Given the description of an element on the screen output the (x, y) to click on. 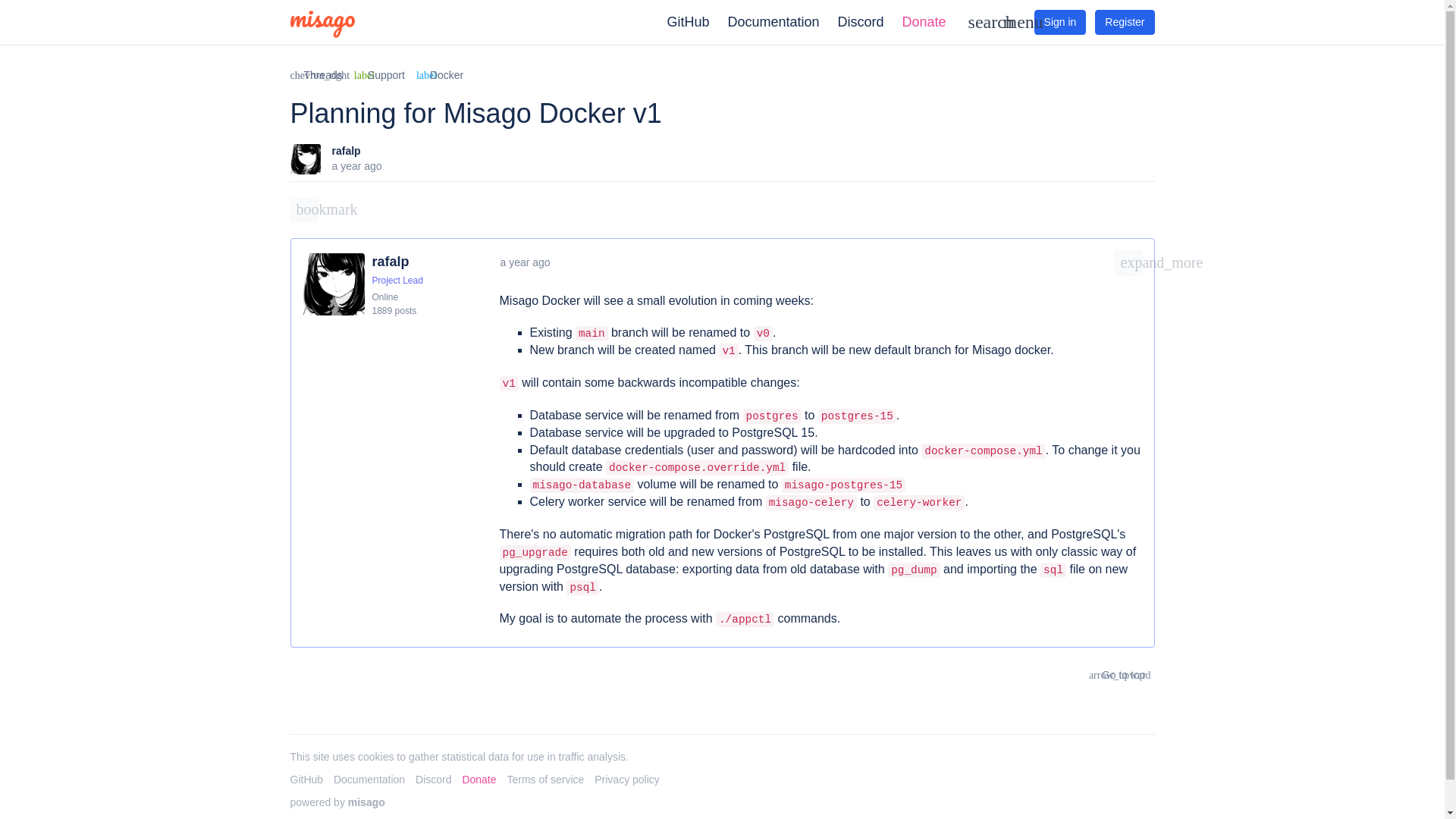
menu (1011, 22)
Started on: May 25, 2023 10:08 PM (356, 165)
search (976, 22)
GitHub (439, 75)
Thread author (687, 22)
Register (346, 150)
Open menu (378, 75)
rafalp is online (1124, 22)
Shortcuts (1011, 22)
Discord (384, 296)
Sign in (303, 209)
Donate (860, 22)
Documentation (1059, 22)
